Given the description of an element on the screen output the (x, y) to click on. 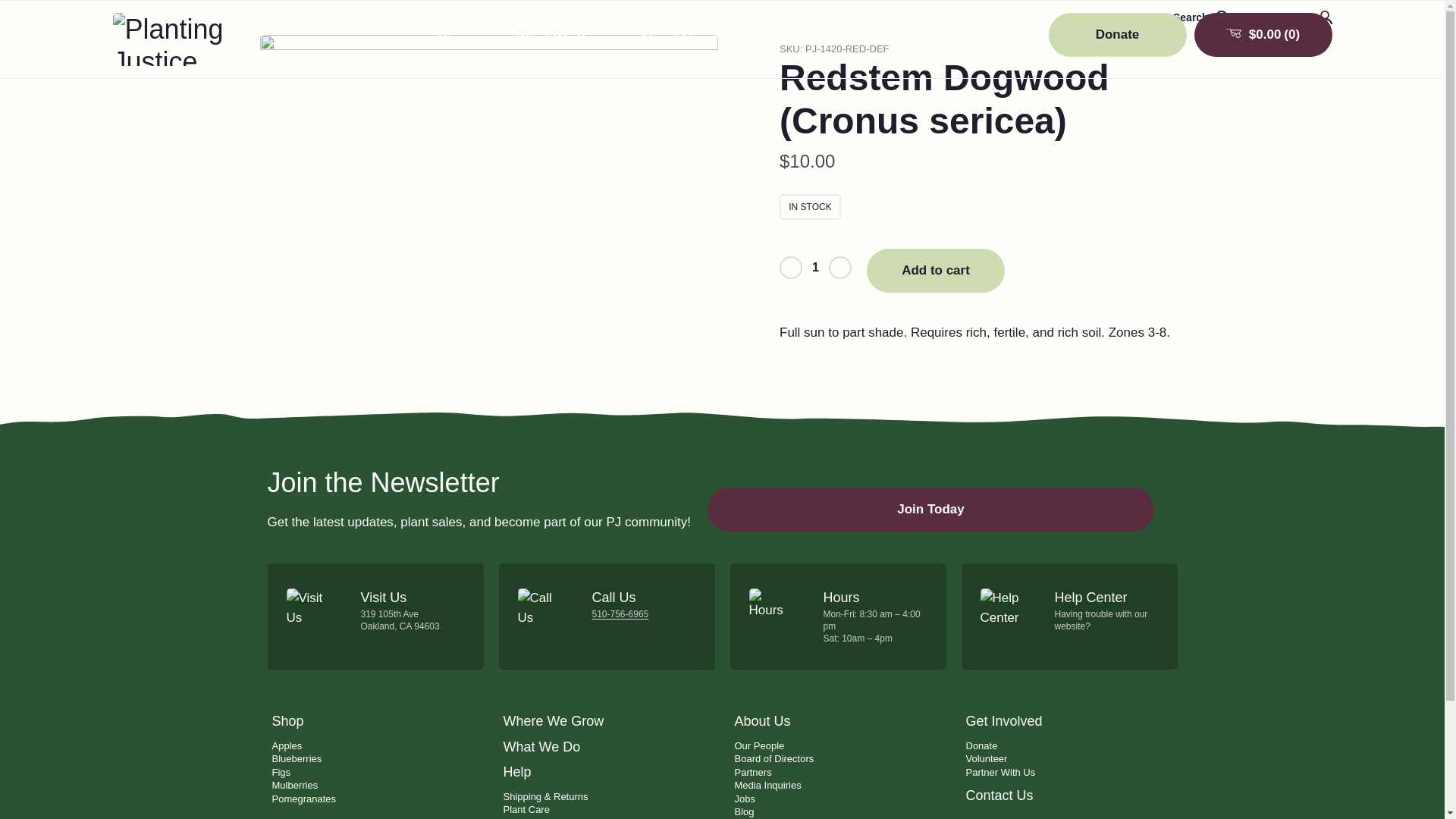
Search (1200, 17)
Shop (462, 38)
My Account (1291, 17)
1 (815, 267)
